Given the description of an element on the screen output the (x, y) to click on. 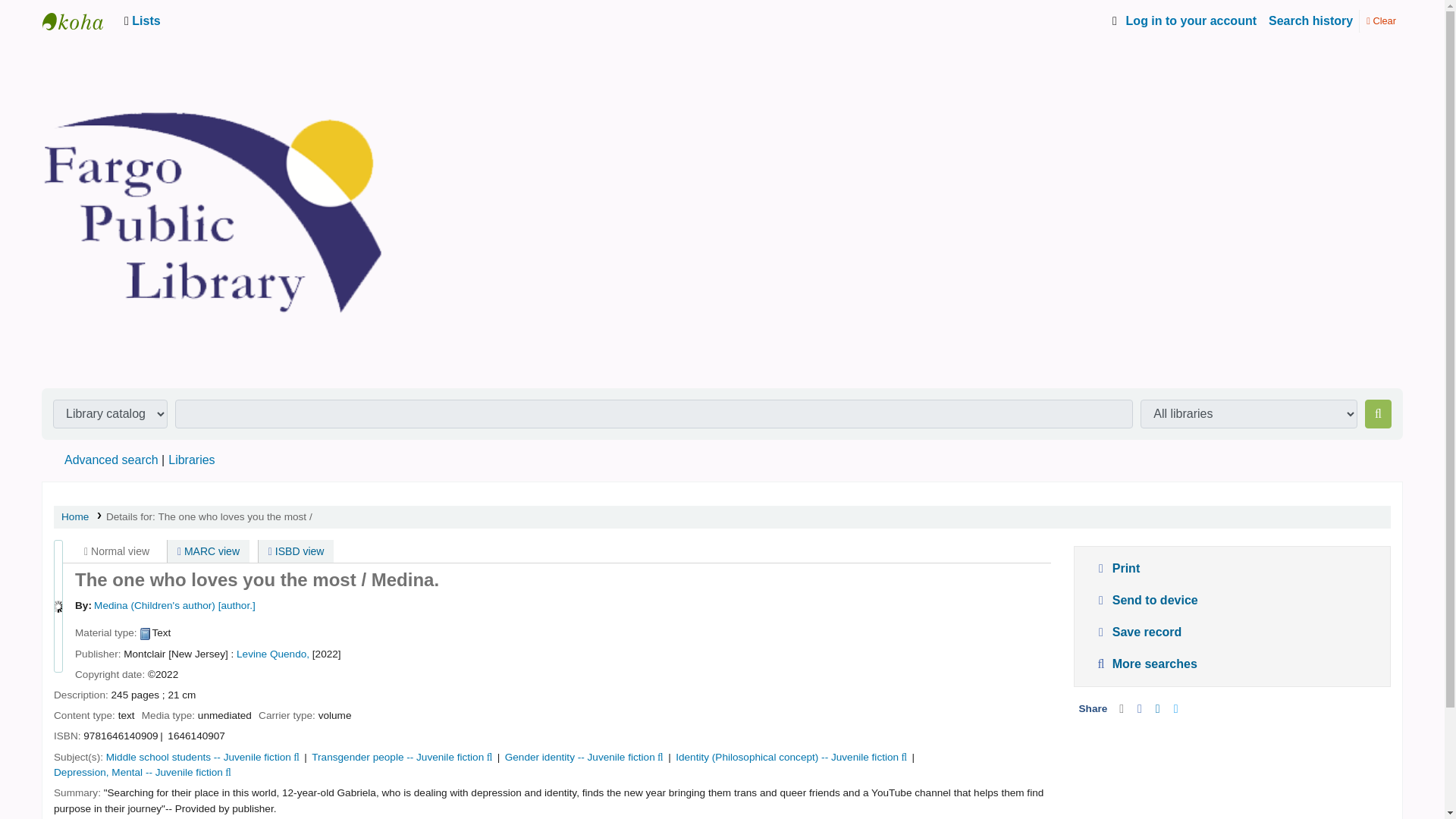
Fargo Public Library (79, 20)
Transgender people -- Juvenile fiction (397, 756)
MARC view (207, 550)
Advanced search (111, 459)
Middle school students -- Juvenile fiction (198, 756)
Levine Quendo, (271, 654)
Search (1378, 413)
Delete your search history (1380, 20)
Show lists (145, 20)
View your search history (1310, 20)
